Given the description of an element on the screen output the (x, y) to click on. 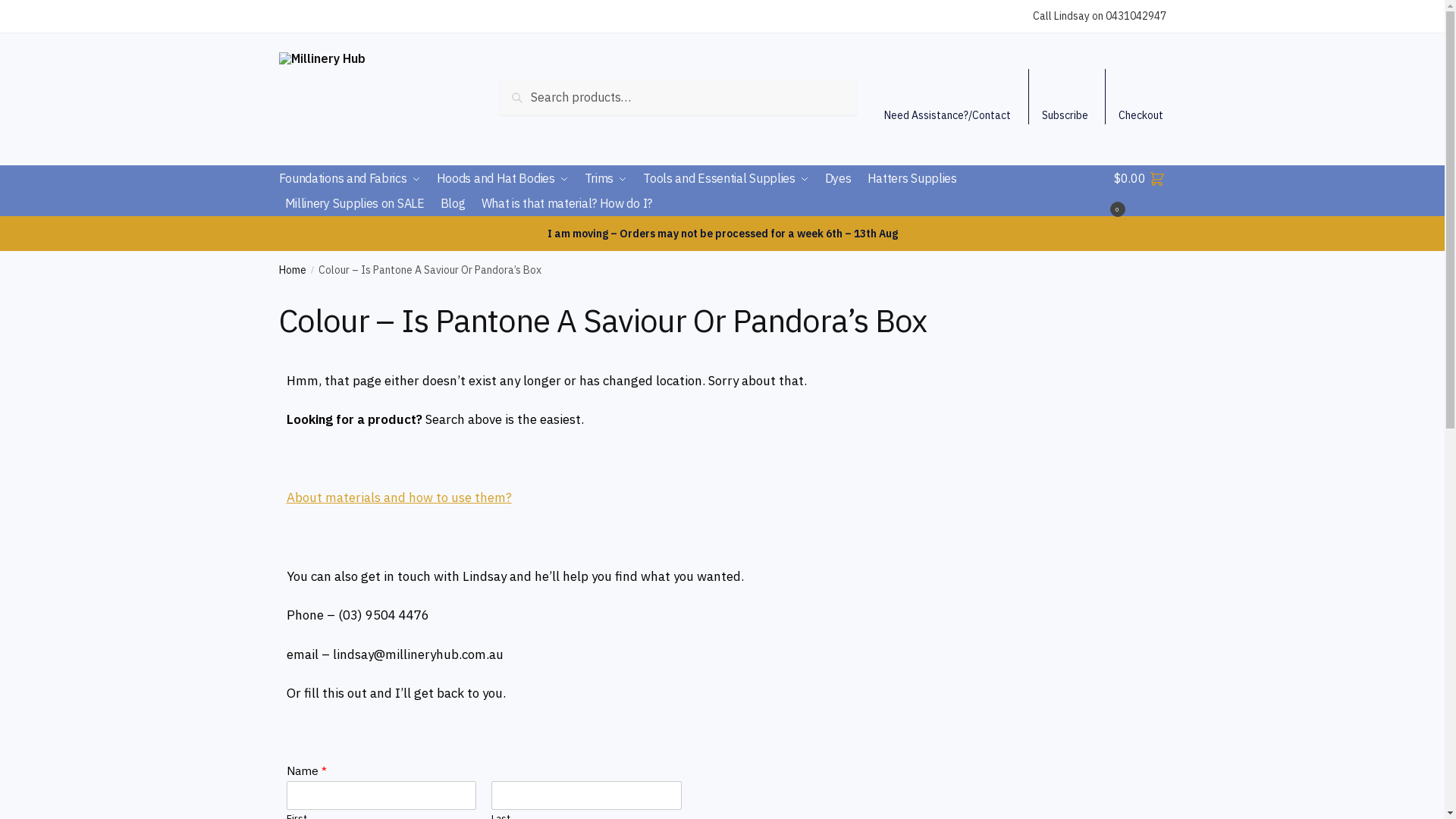
Checkout Element type: text (1141, 96)
Subscribe Element type: text (1065, 96)
Tools and Essential Supplies Element type: text (726, 178)
Trims Element type: text (605, 178)
About materials and how to use them? Element type: text (398, 497)
Call Lindsay on 0431042947 Element type: text (1099, 16)
$0.00 0 Element type: text (1139, 191)
What is that material? How do I? Element type: text (566, 203)
Foundations and Fabrics Element type: text (352, 178)
Search Element type: text (535, 95)
Blog Element type: text (452, 203)
Home Element type: text (292, 269)
Hatters Supplies Element type: text (912, 178)
Millinery Supplies on SALE Element type: text (354, 203)
Hoods and Hat Bodies Element type: text (502, 178)
Dyes Element type: text (838, 178)
Need Assistance?/Contact Element type: text (947, 96)
